Given the description of an element on the screen output the (x, y) to click on. 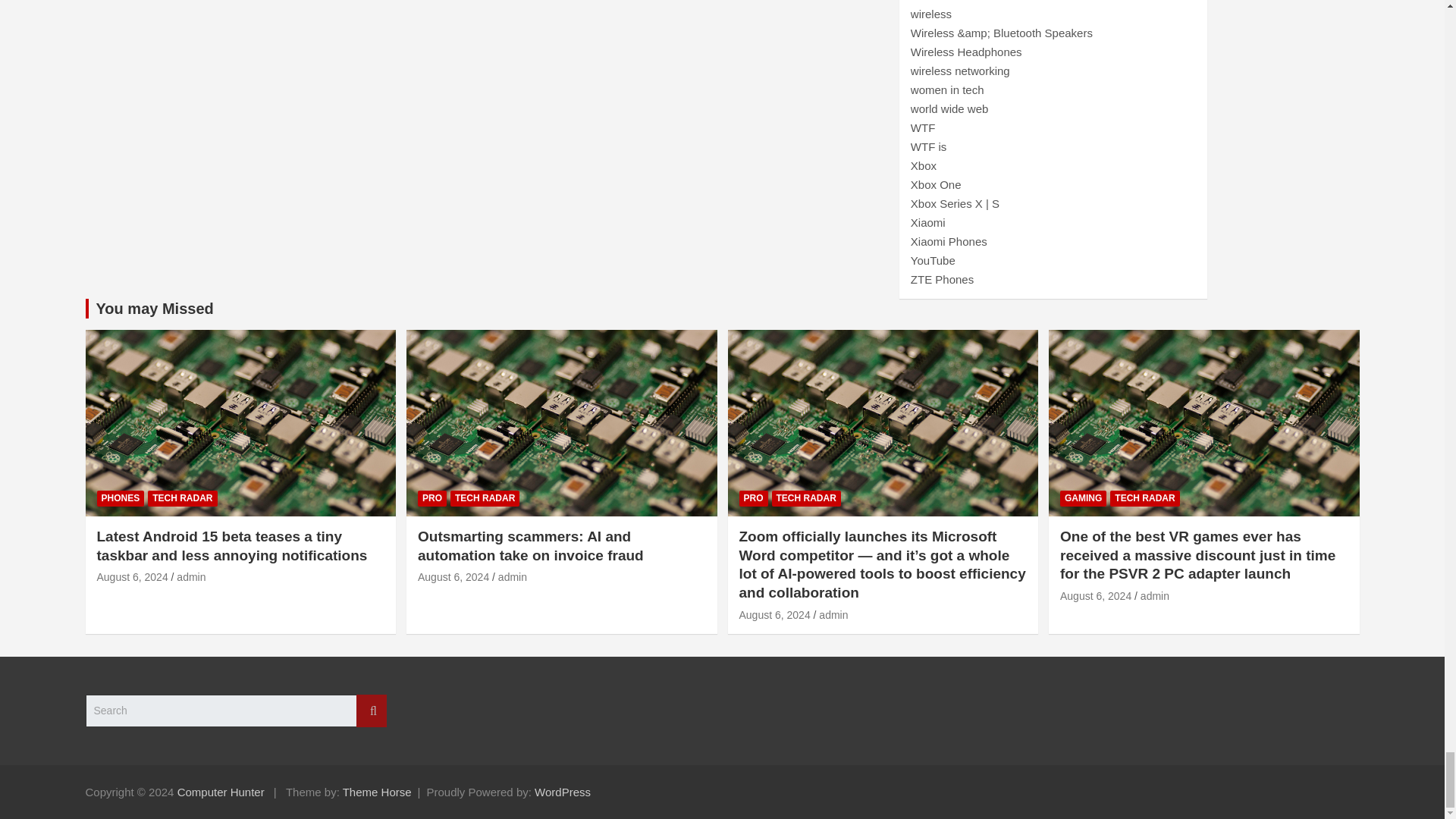
Theme Horse (377, 791)
Computer Hunter (220, 791)
WordPress (562, 791)
